Given the description of an element on the screen output the (x, y) to click on. 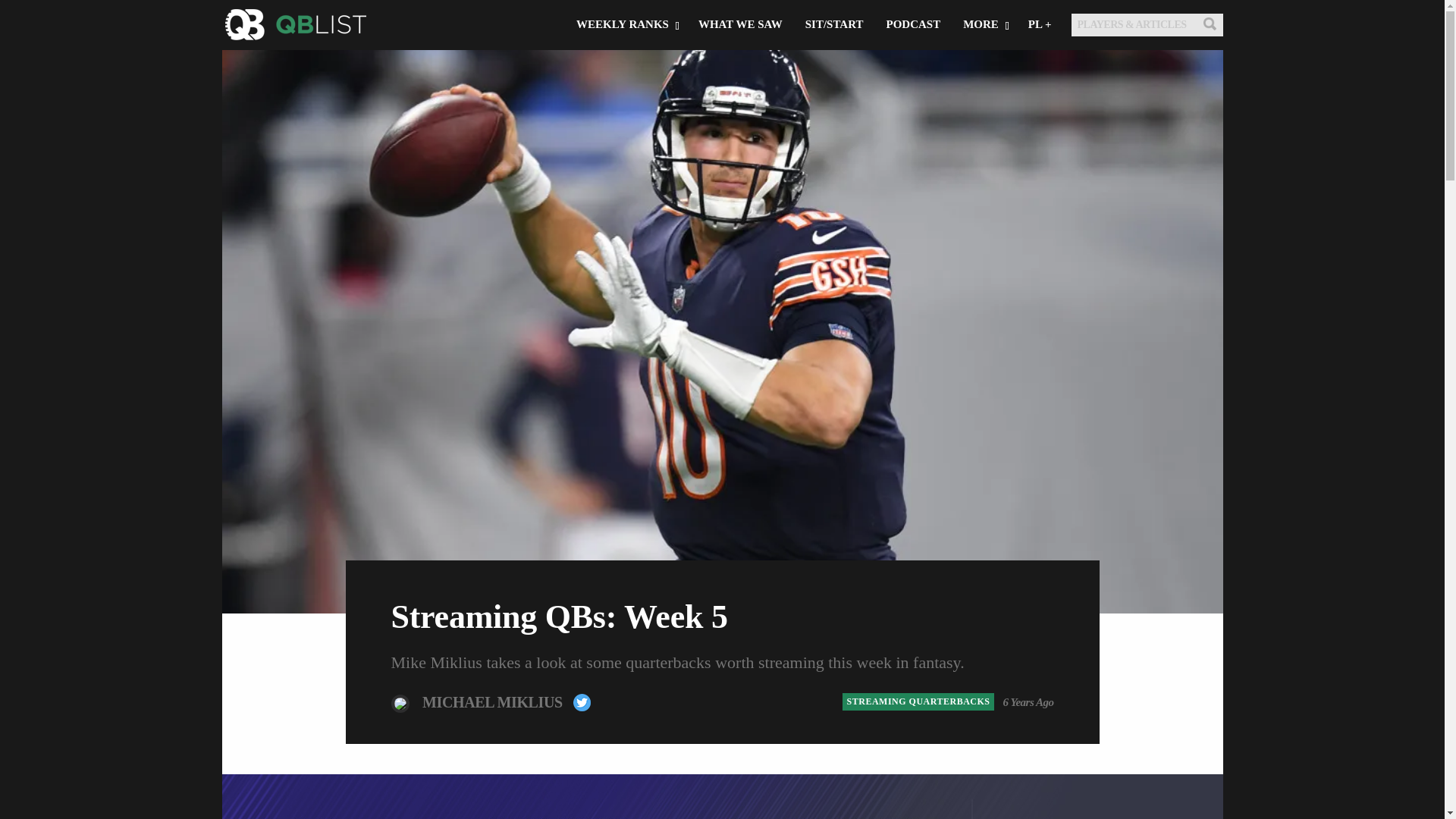
PODCAST (913, 74)
STREAMING QUARTERBACKS (918, 701)
MORE (984, 74)
WHAT WE SAW (740, 74)
MICHAEL MIKLIUS (494, 701)
